Given the description of an element on the screen output the (x, y) to click on. 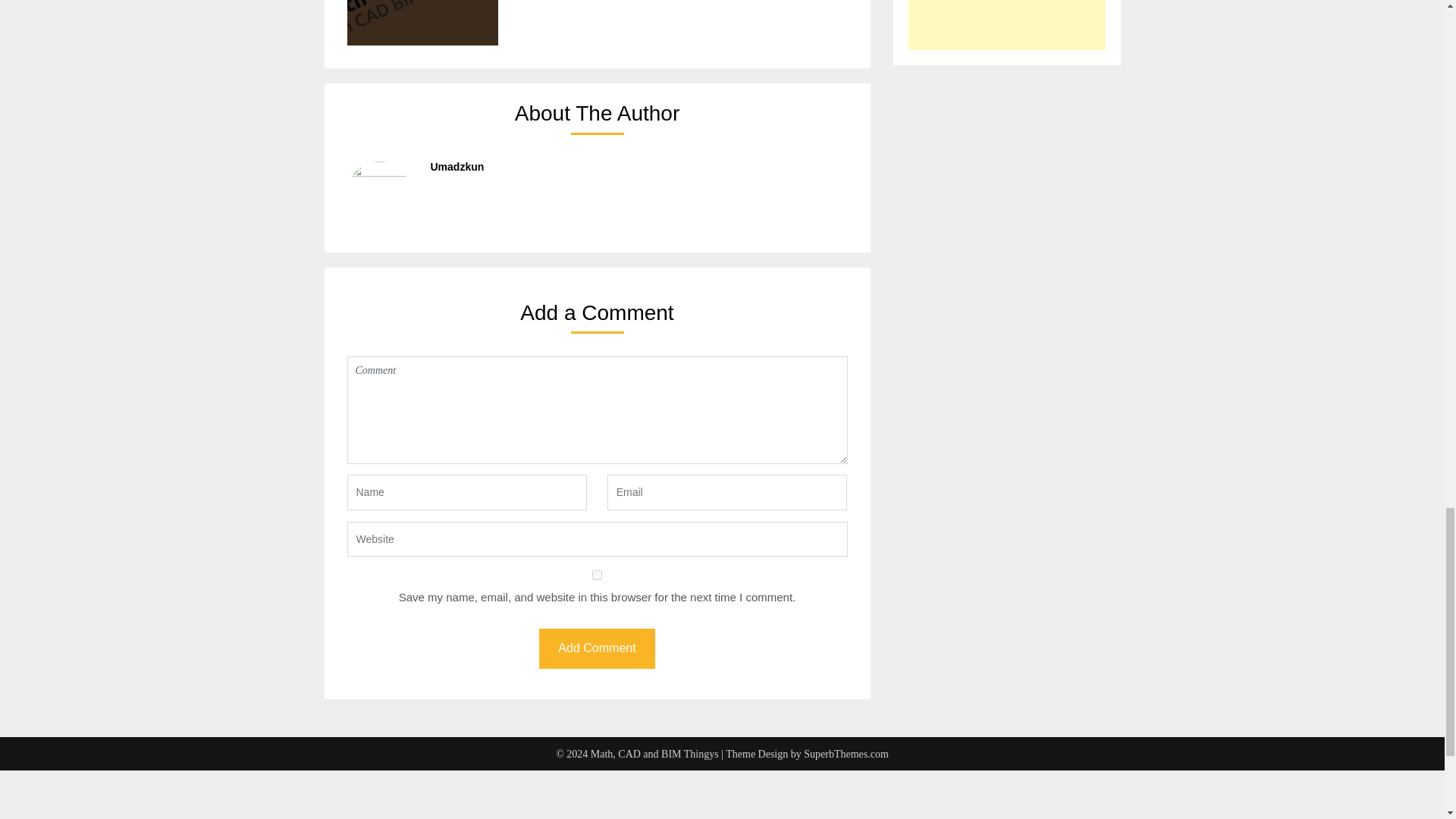
Advertisement (455, 794)
yes (597, 574)
SuperbThemes.com (845, 754)
Add Comment (595, 648)
Advertisement (1006, 24)
Add Comment (595, 648)
